Given the description of an element on the screen output the (x, y) to click on. 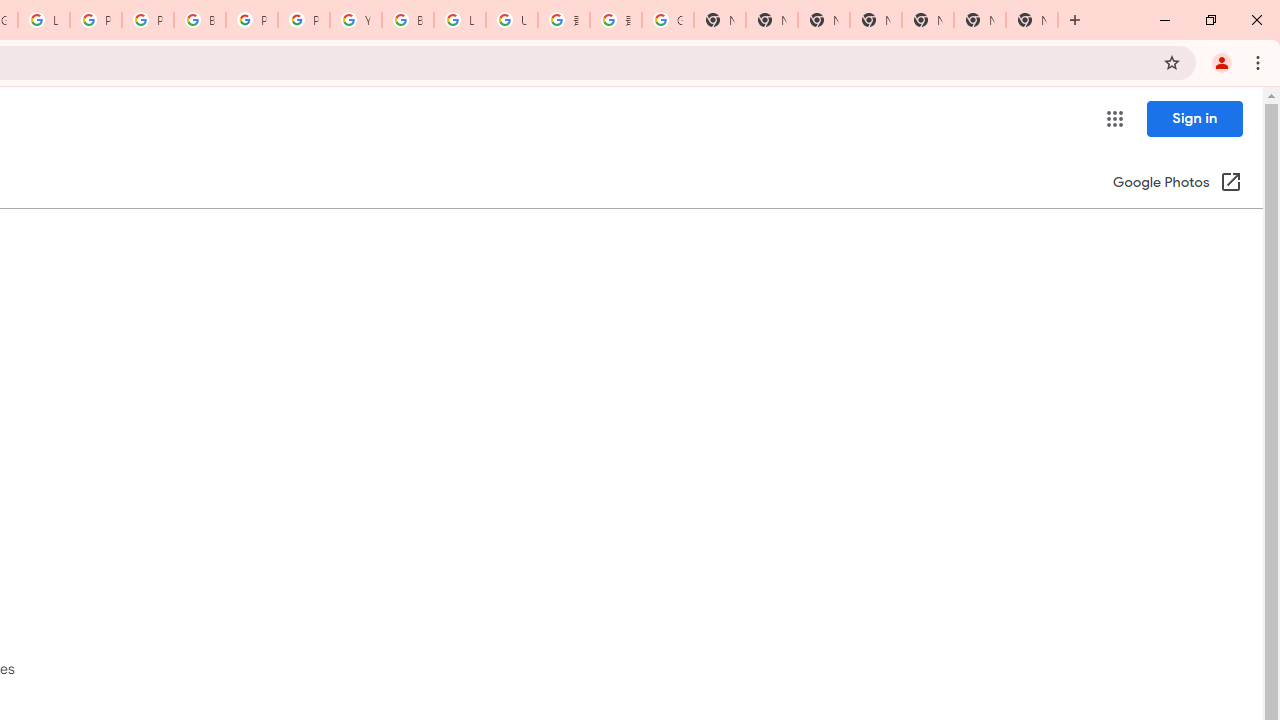
Google Photos (Open in a new window) (1177, 183)
New Tab (1032, 20)
Privacy Help Center - Policies Help (95, 20)
YouTube (355, 20)
